Given the description of an element on the screen output the (x, y) to click on. 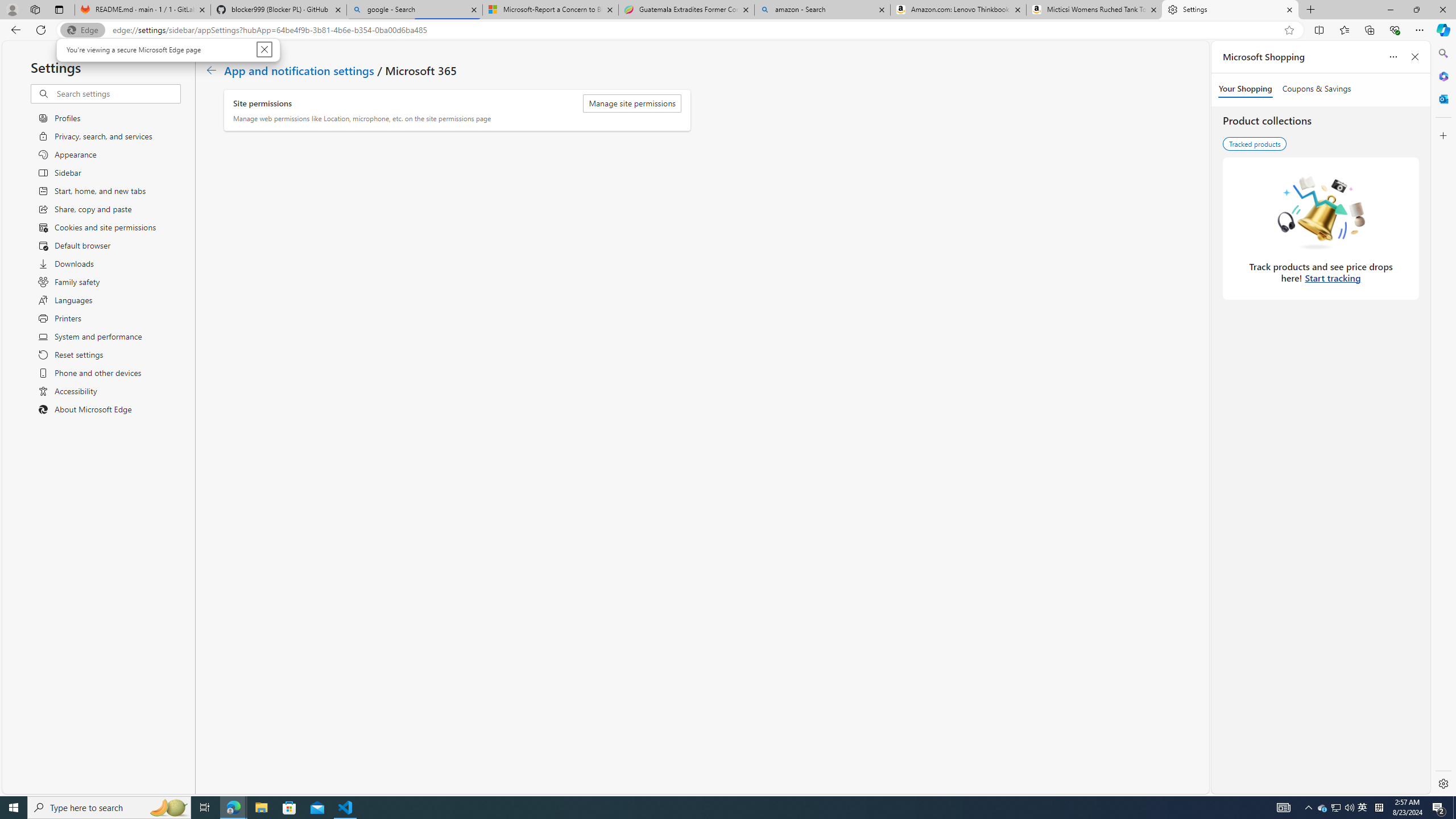
Manage site permissions (631, 103)
Running applications (1322, 807)
